Given the description of an element on the screen output the (x, y) to click on. 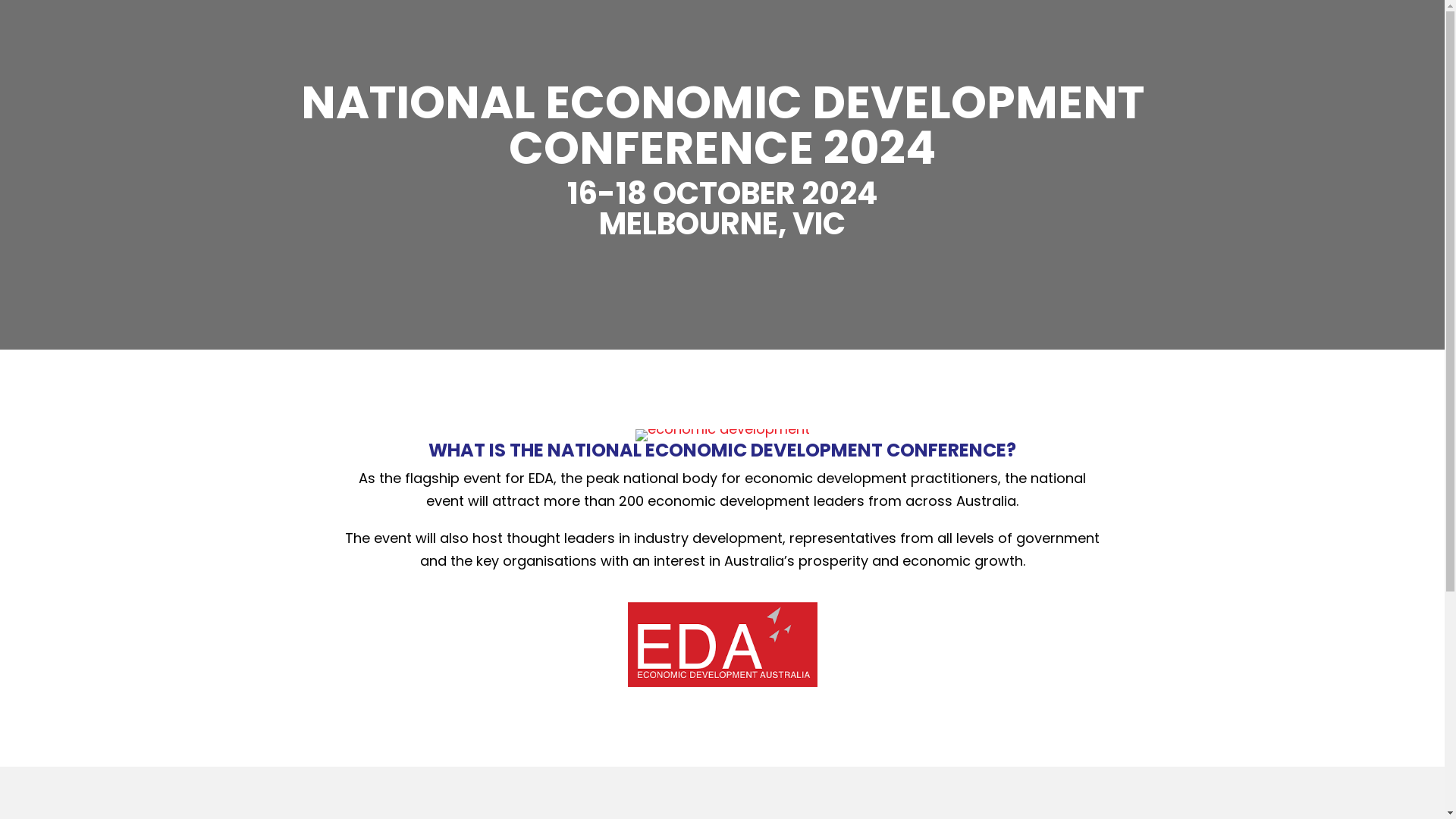
economic development Element type: hover (722, 644)
NEDC23 speakers (3) Element type: hover (722, 435)
